Given the description of an element on the screen output the (x, y) to click on. 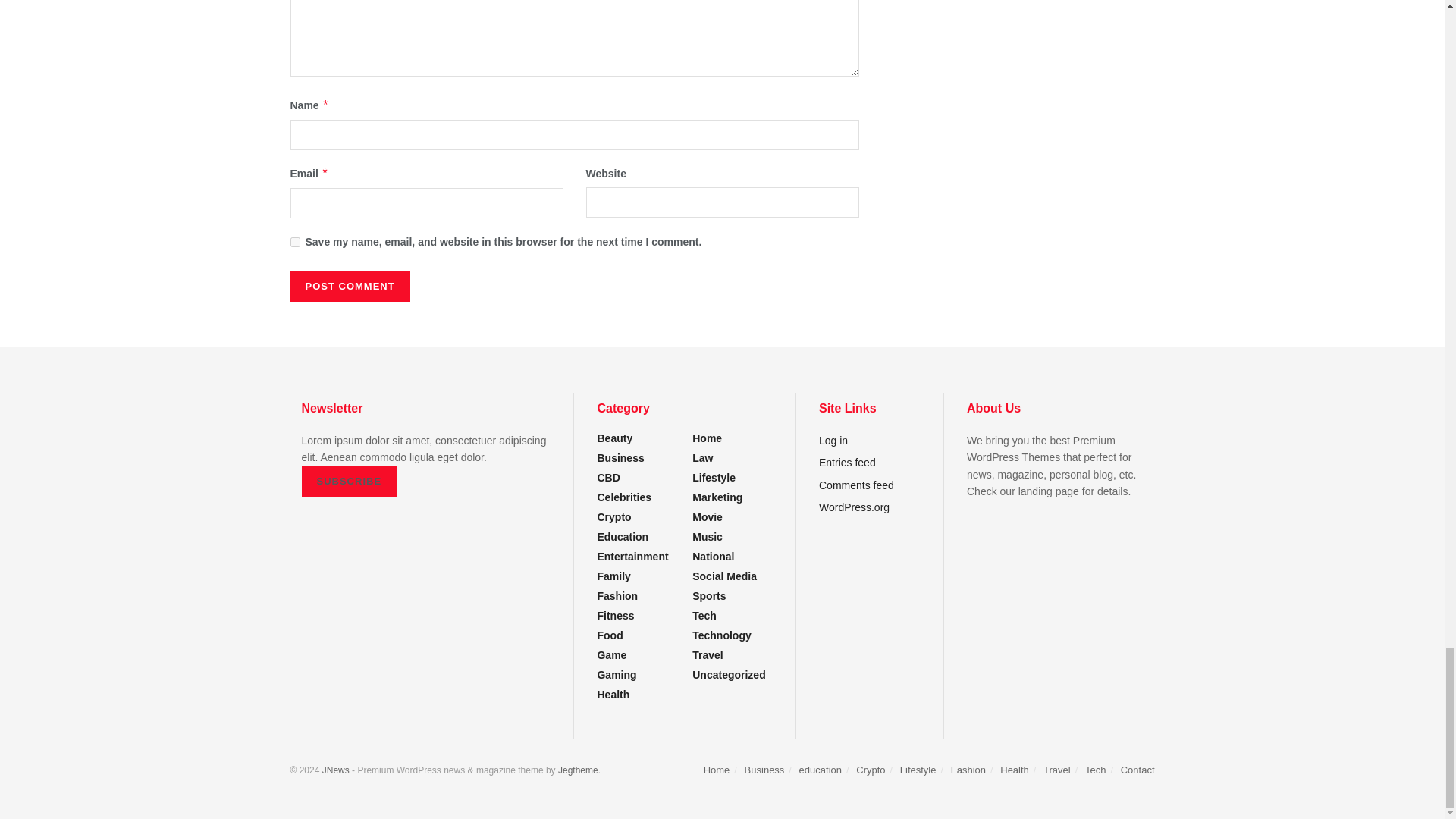
yes (294, 242)
Post Comment (349, 286)
Jegtheme (577, 769)
